Given the description of an element on the screen output the (x, y) to click on. 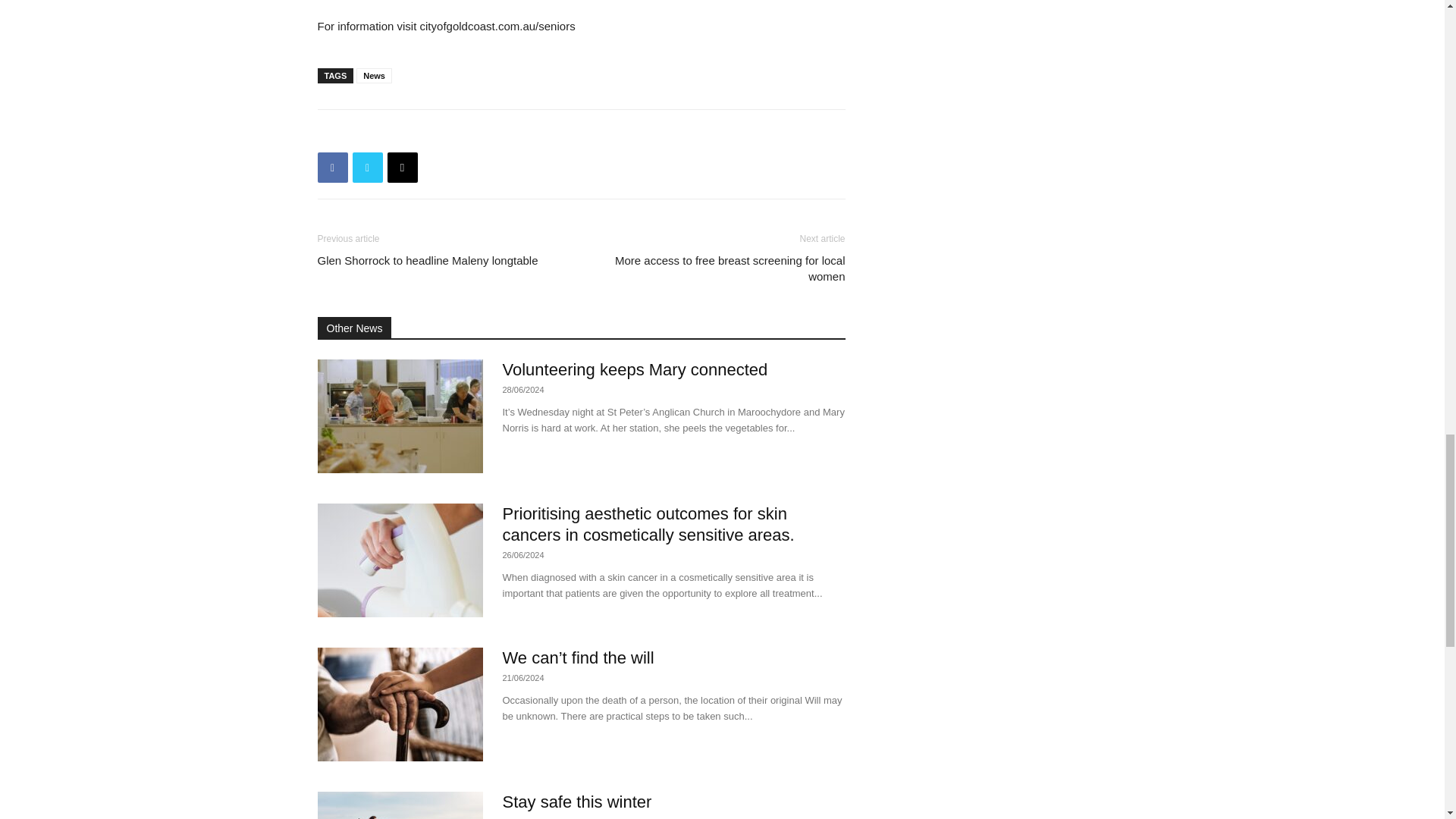
Volunteering keeps Mary connected (399, 416)
Facebook (332, 167)
Email (401, 167)
bottomFacebookLike (430, 133)
Twitter (366, 167)
